Given the description of an element on the screen output the (x, y) to click on. 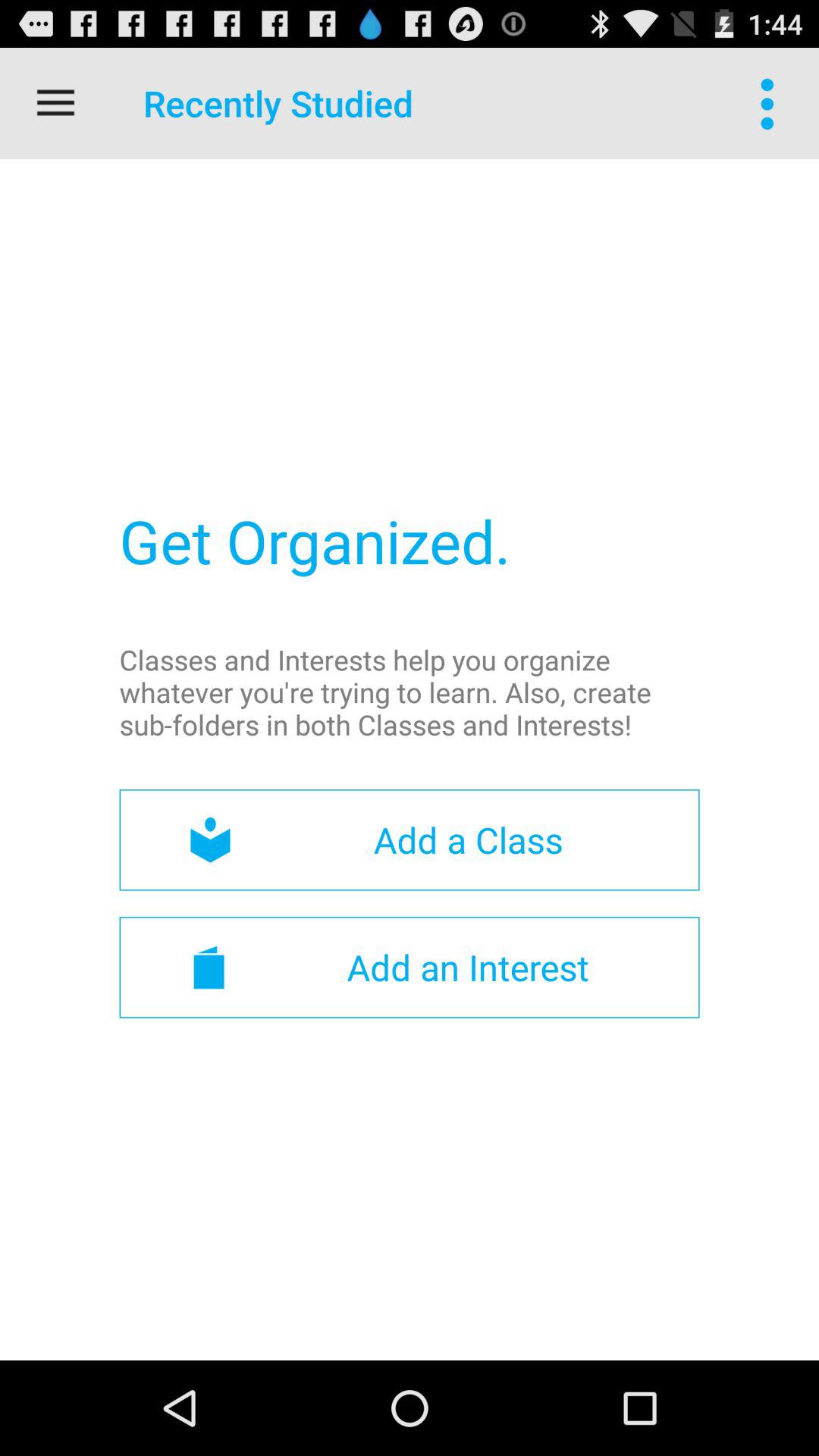
swipe until the add a class item (409, 839)
